Given the description of an element on the screen output the (x, y) to click on. 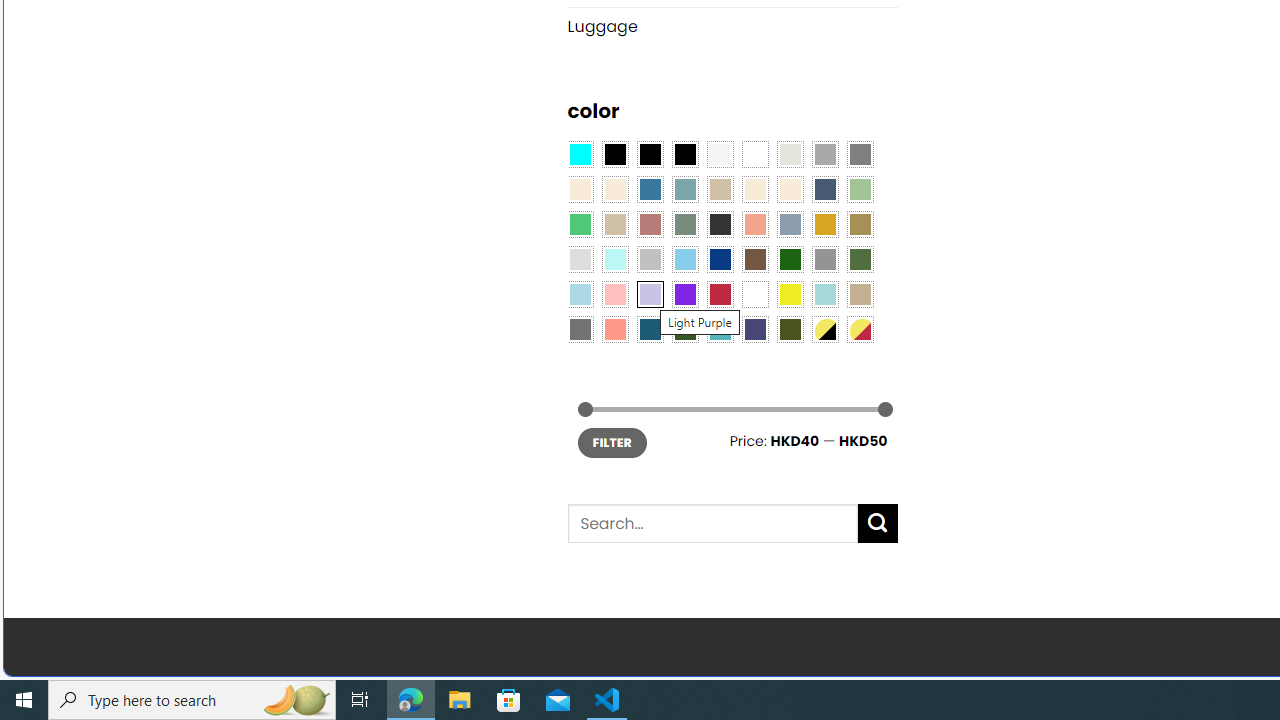
Light Blue (579, 295)
Gold (824, 224)
Khaki (859, 295)
Sky Blue (684, 259)
Sage (684, 224)
Rose (650, 224)
Aqua (824, 295)
Purple (684, 295)
Light Green (859, 190)
Ash Gray (789, 154)
Yellow-Black (824, 329)
Dusty Blue (789, 224)
Blue (650, 190)
Aqua Blue (579, 154)
